Given the description of an element on the screen output the (x, y) to click on. 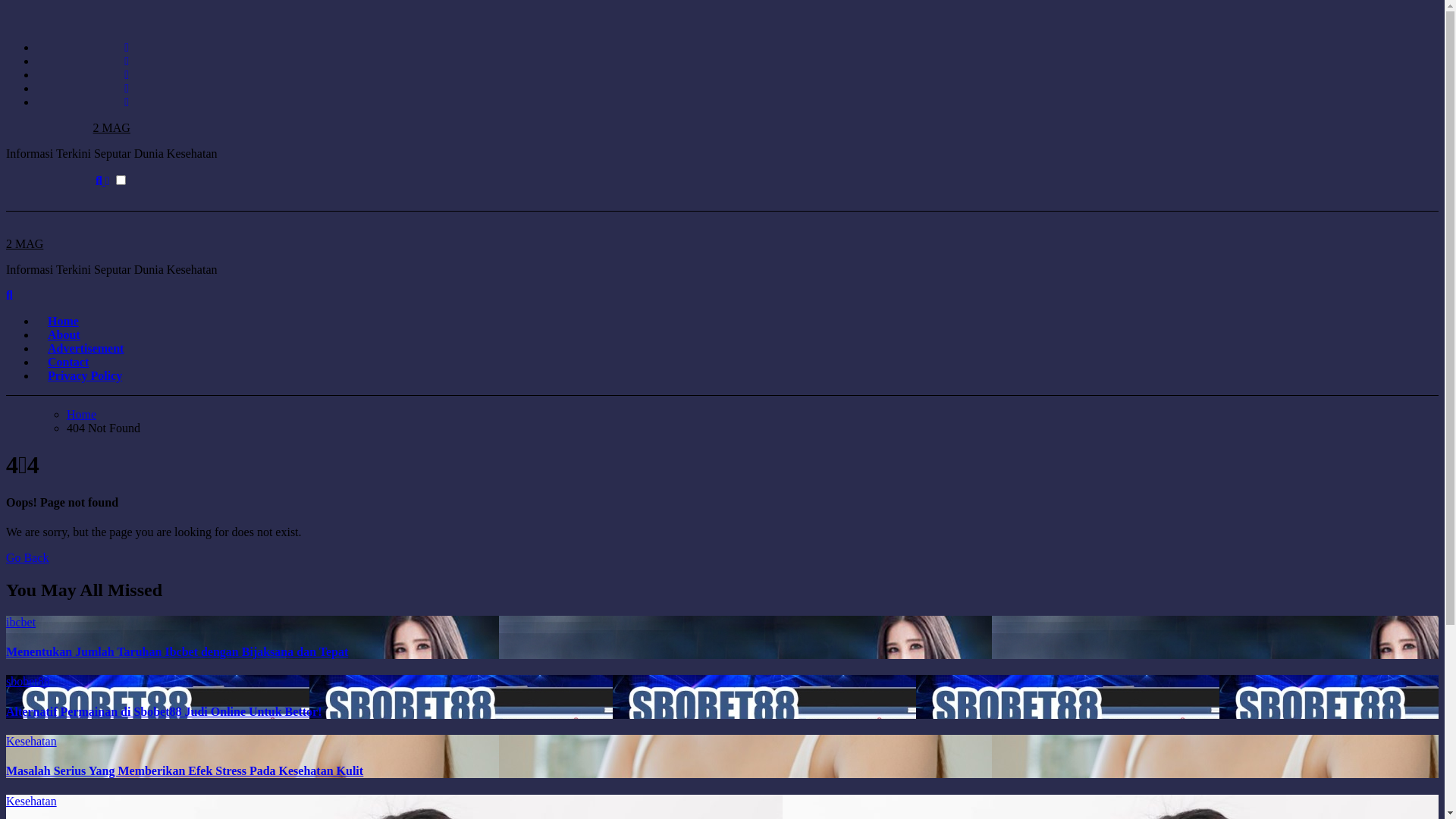
Kesehatan Element type: text (31, 740)
Home Element type: text (63, 320)
Go Back Element type: text (27, 557)
ibcbet Element type: text (20, 621)
Menentukan Jumlah Taruhan Ibcbet dengan Bijaksana dan Tepat Element type: text (177, 651)
Alternatif Permainan di Sbobet88 Judi Online Untuk Bettor! Element type: text (163, 711)
Home Element type: text (81, 413)
About Element type: text (63, 334)
Contact Element type: text (68, 361)
Privacy Policy Element type: text (84, 375)
Skip to content Element type: text (5, 5)
Kesehatan Element type: text (31, 800)
Advertisement Element type: text (85, 347)
2 MAG Element type: text (24, 243)
sbobet88 Element type: text (28, 680)
2 MAG Element type: text (111, 127)
